Given the description of an element on the screen output the (x, y) to click on. 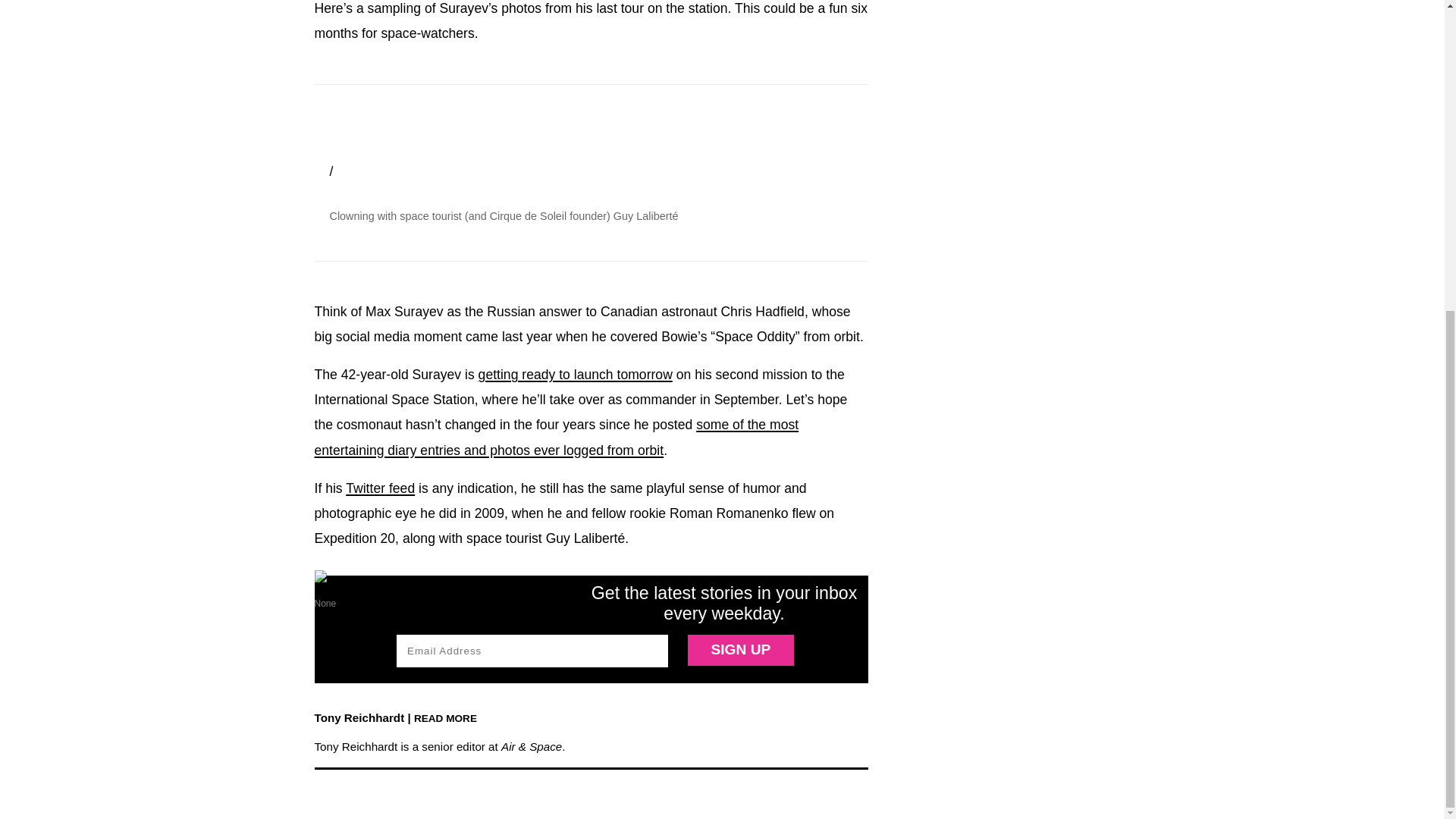
Sign Up (740, 649)
Read more from this author (445, 717)
